Given the description of an element on the screen output the (x, y) to click on. 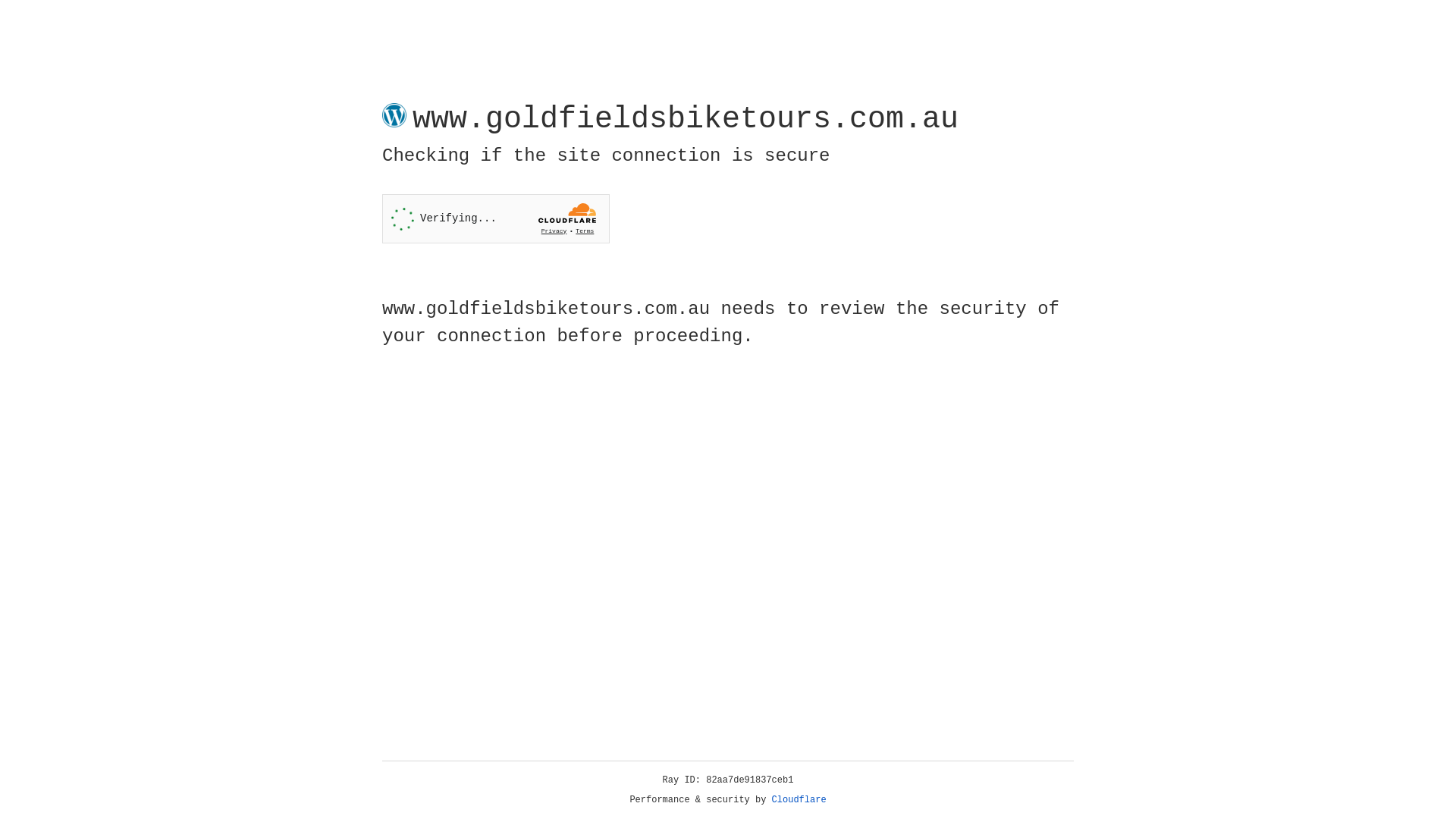
Cloudflare Element type: text (798, 799)
Widget containing a Cloudflare security challenge Element type: hover (495, 218)
